Given the description of an element on the screen output the (x, y) to click on. 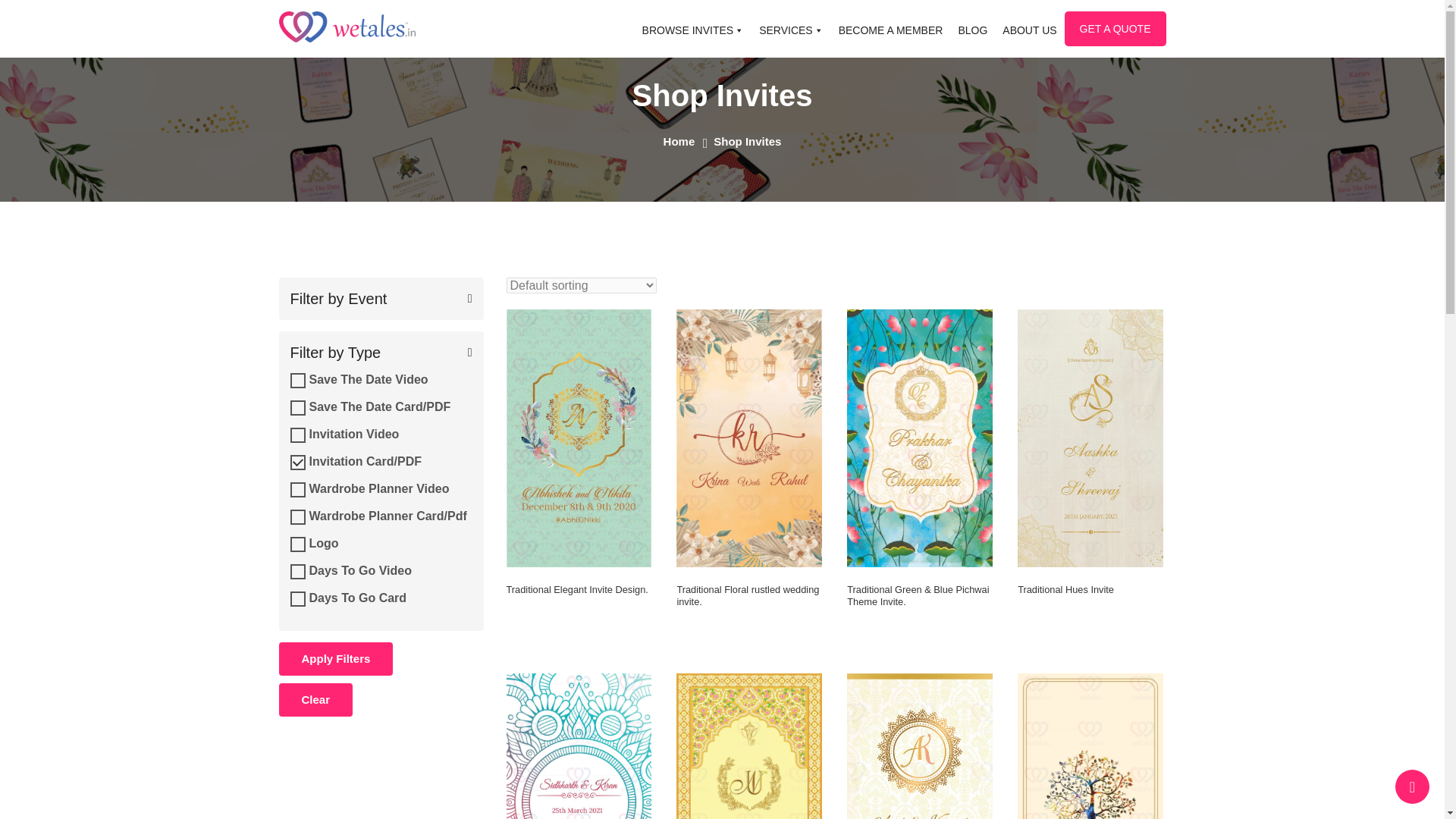
BROWSE INVITES (693, 30)
226 (296, 462)
Bizcoach (346, 26)
455 (296, 571)
464 (296, 489)
SERVICES (791, 30)
463 (296, 516)
299 (296, 544)
101 (296, 380)
GET A QUOTE (1115, 28)
ABOUT US (1030, 30)
456 (296, 598)
BECOME A MEMBER (890, 30)
87 (296, 435)
BLOG (972, 30)
